Given the description of an element on the screen output the (x, y) to click on. 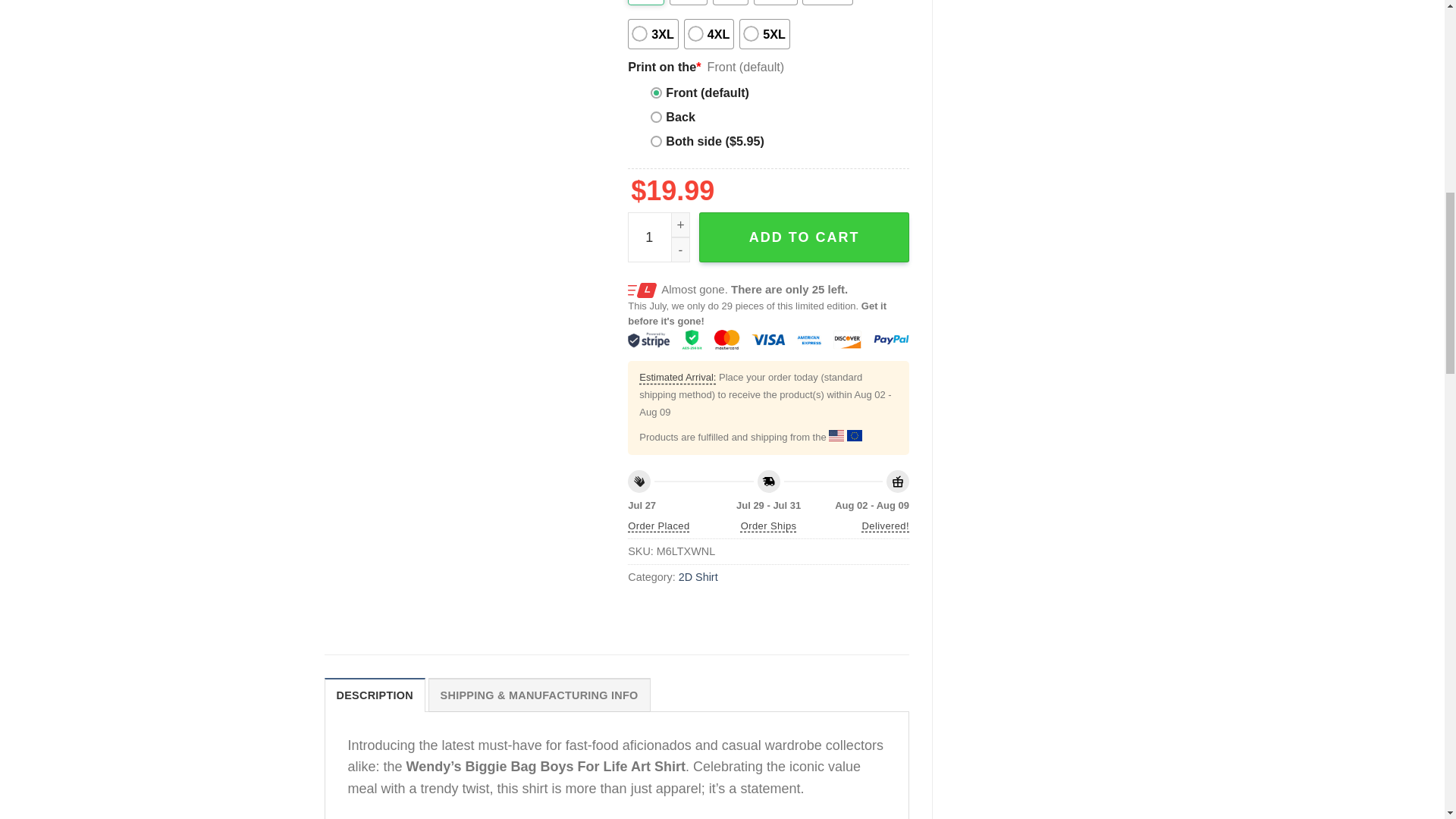
- (680, 249)
1 (658, 237)
